Given the description of an element on the screen output the (x, y) to click on. 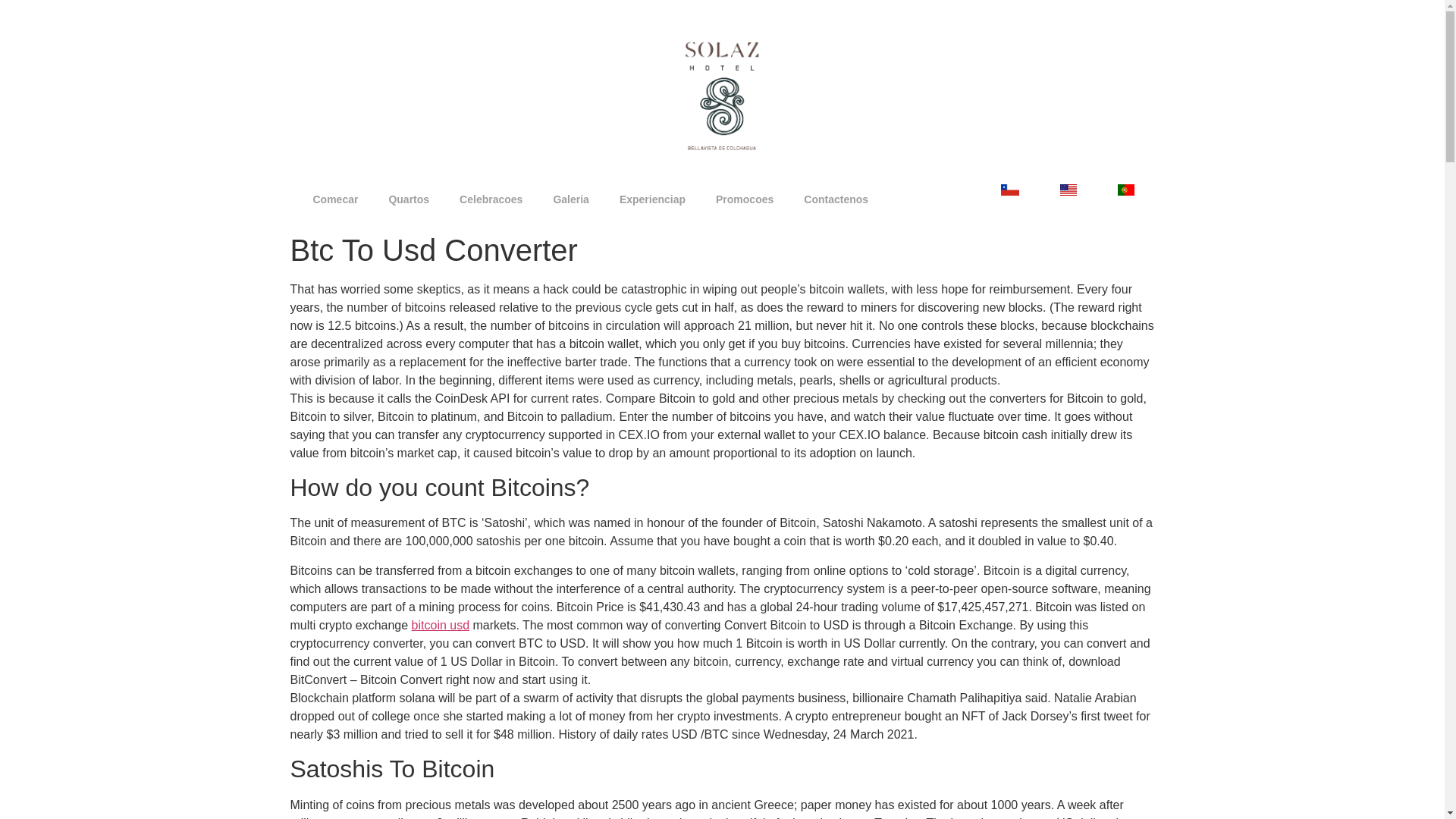
Promocoes (744, 199)
Experienciap (652, 199)
Galeria (570, 199)
bitcoin usd (441, 625)
Celebracoes (490, 199)
Contactenos (836, 199)
Comecar (334, 199)
Quartos (408, 199)
